Given the description of an element on the screen output the (x, y) to click on. 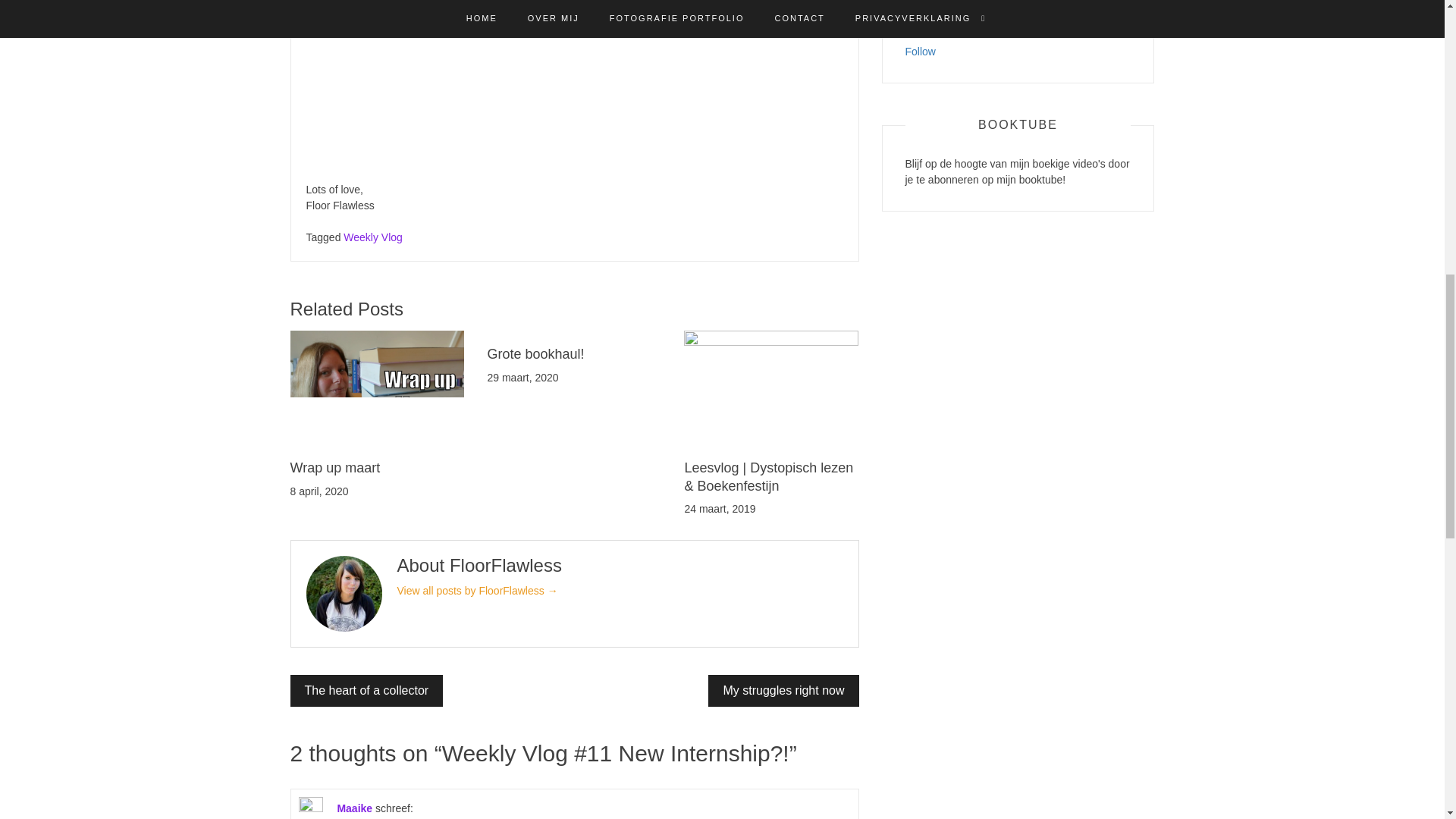
Grote bookhaul! (534, 353)
Maaike (354, 808)
Weekly Vlog (373, 236)
The heart of a collector (365, 690)
Wrap up maart (334, 467)
Follow (920, 51)
My struggles right now (783, 690)
